Given the description of an element on the screen output the (x, y) to click on. 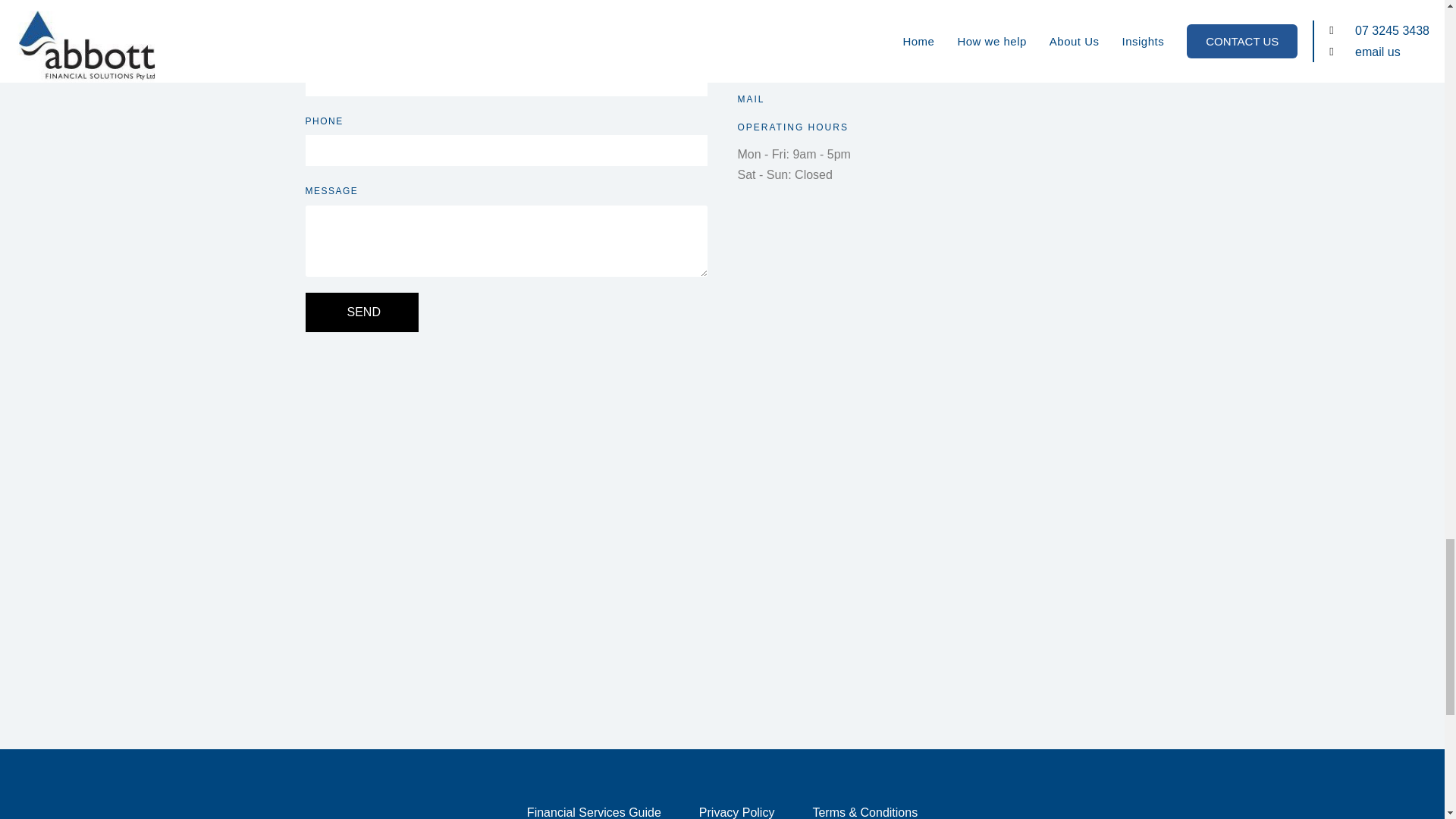
07 3245 3438 (773, 10)
Financial Services Guide (594, 806)
Privacy Policy (737, 806)
SEND (360, 312)
